Given the description of an element on the screen output the (x, y) to click on. 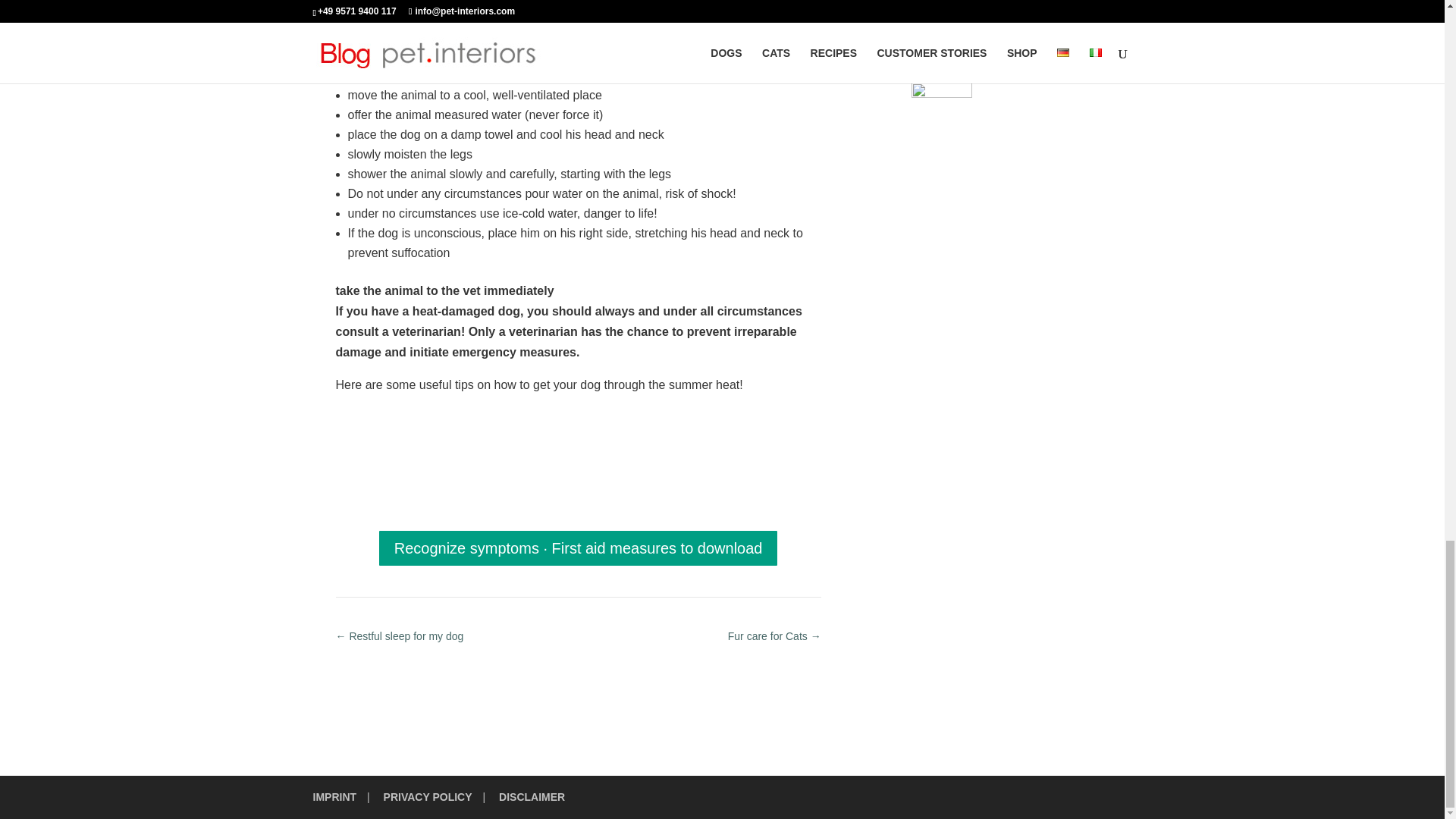
IMPRINT (334, 797)
PRIVACY POLICY (427, 797)
IMPRINT (334, 797)
DISCLAIMER (531, 797)
